Given the description of an element on the screen output the (x, y) to click on. 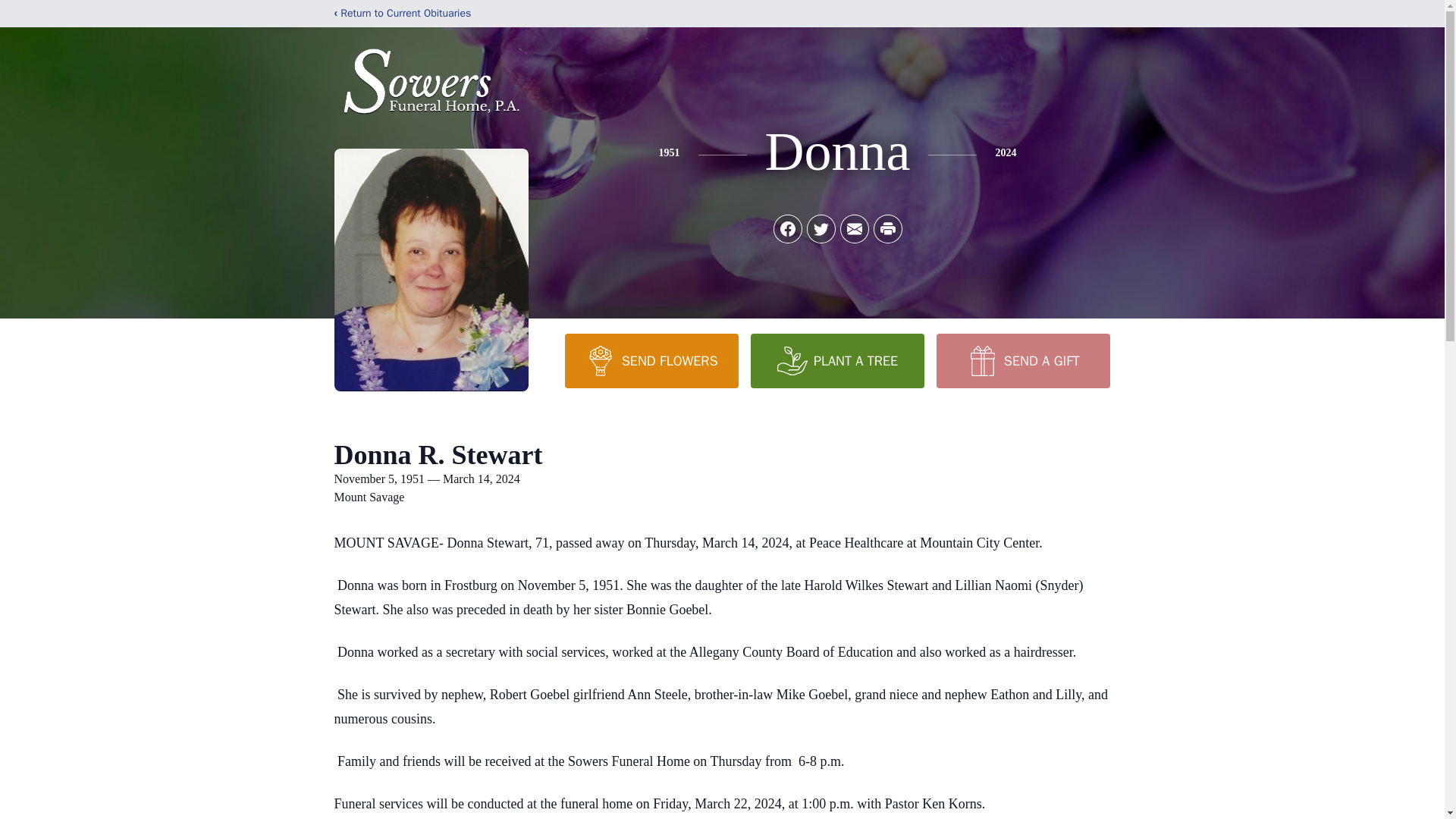
SEND A GIFT (1022, 360)
PLANT A TREE (837, 360)
SEND FLOWERS (651, 360)
